Given the description of an element on the screen output the (x, y) to click on. 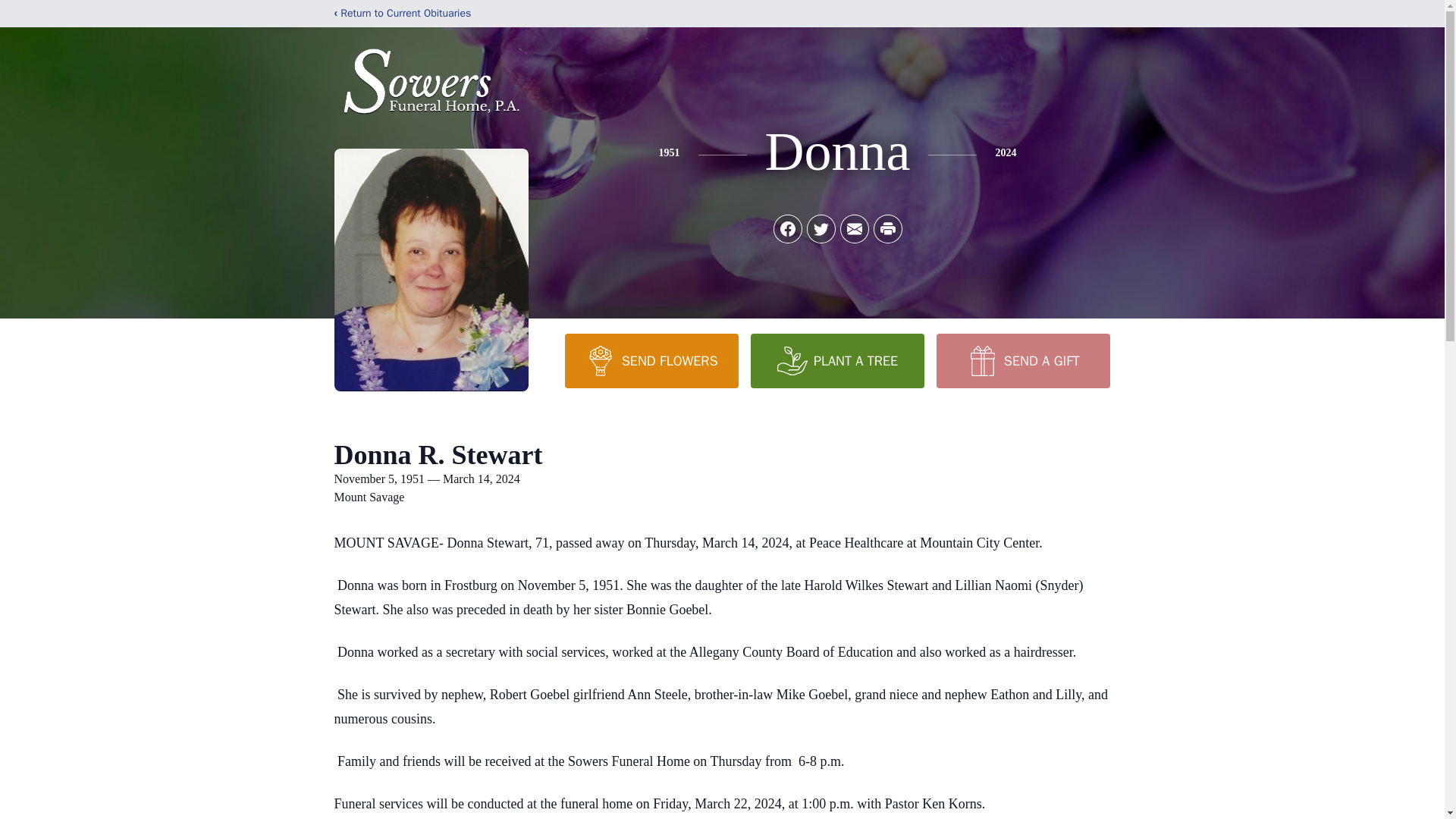
SEND A GIFT (1022, 360)
PLANT A TREE (837, 360)
SEND FLOWERS (651, 360)
